Given the description of an element on the screen output the (x, y) to click on. 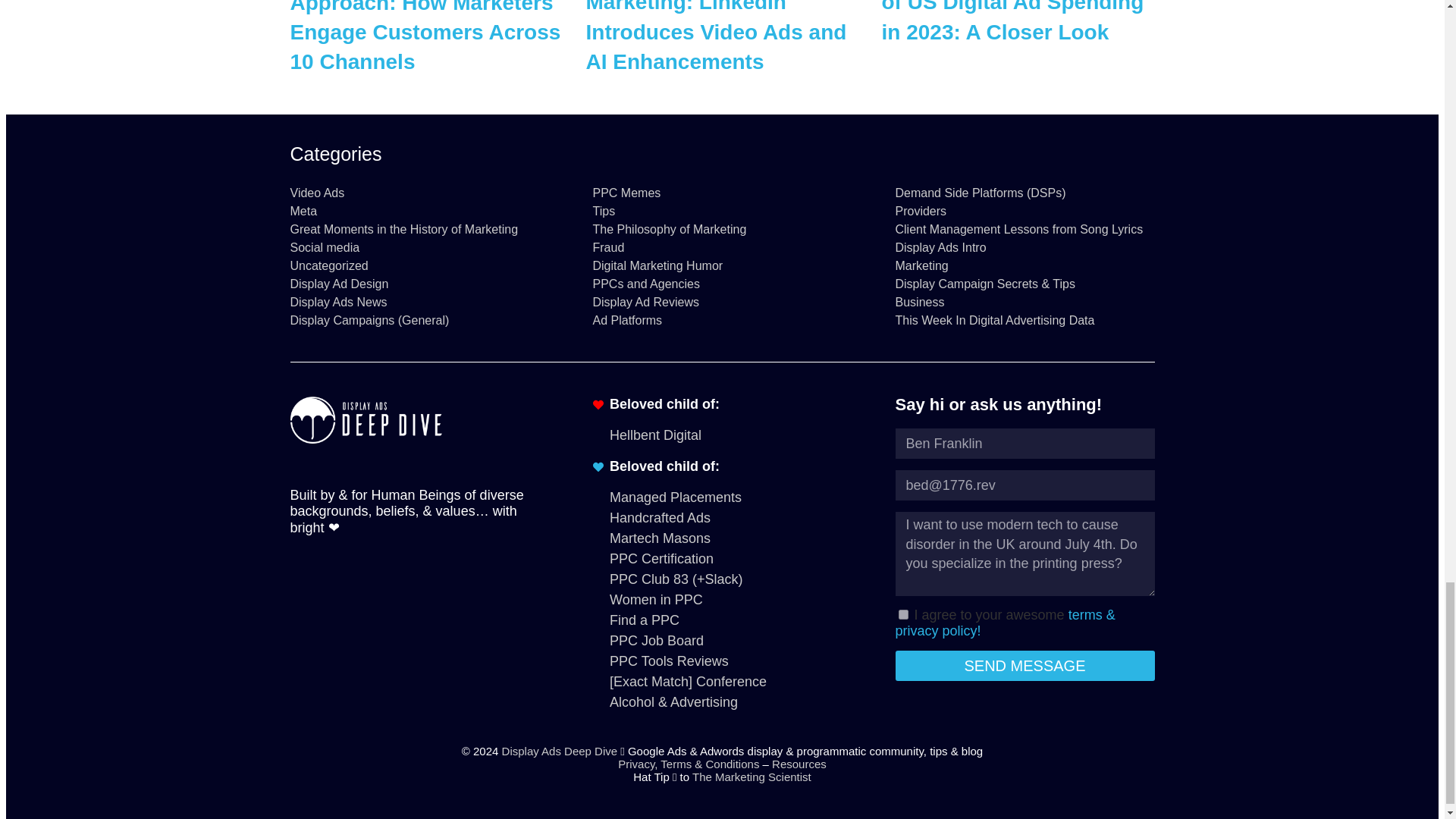
Display Ad Reviews (721, 302)
Video Ads (418, 192)
Social media (418, 247)
PPCs and Agencies (721, 284)
Great Moments in the History of Marketing (418, 229)
Display Ad Design (418, 284)
PPC Memes (721, 192)
on (902, 614)
Fraud (721, 247)
Meta (418, 211)
The Philosophy of Marketing (721, 229)
Tips (721, 211)
